Given the description of an element on the screen output the (x, y) to click on. 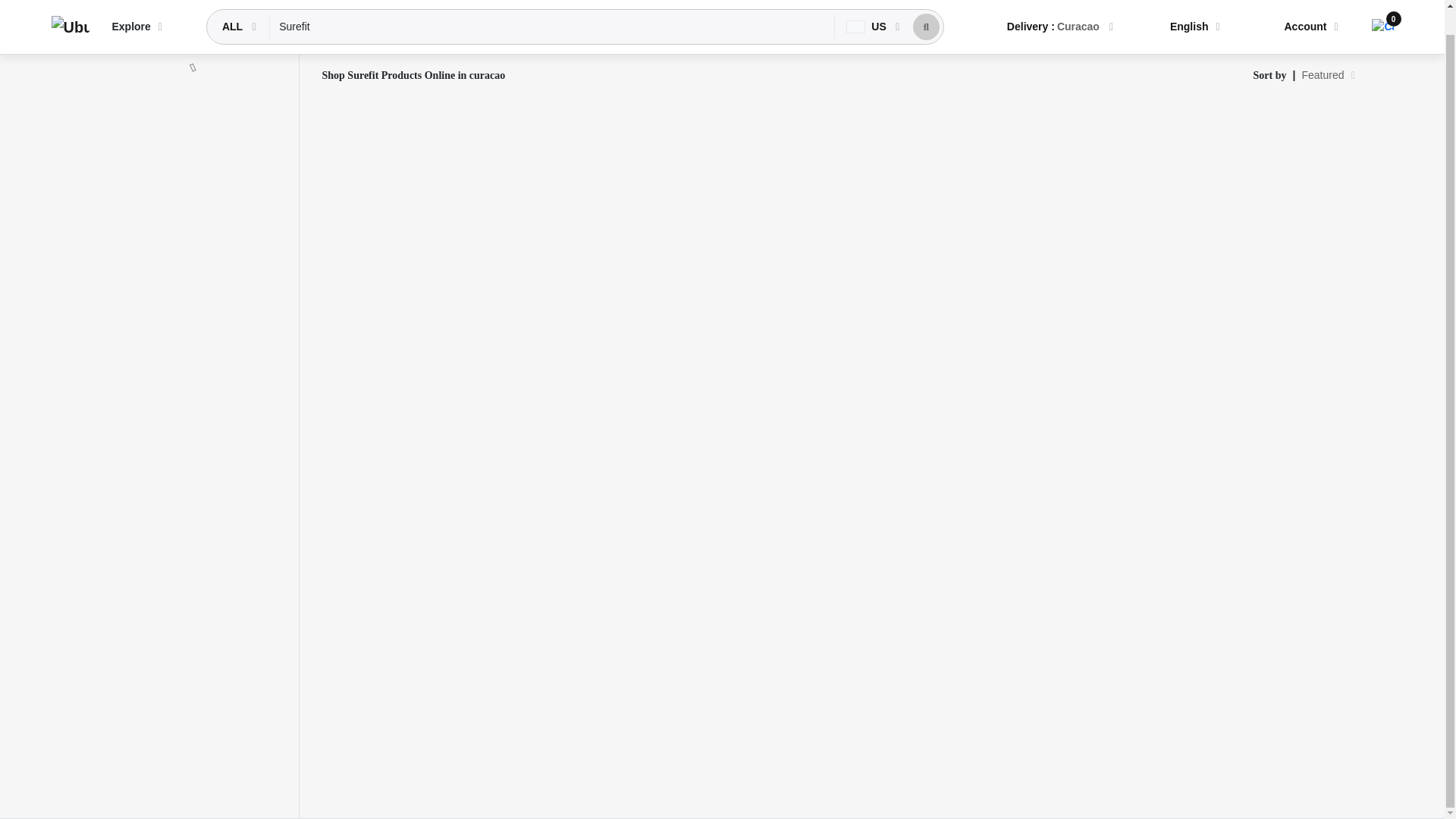
Ubuy (69, 9)
ALL (234, 7)
0 (1382, 5)
US (867, 7)
Surefit (551, 7)
